Given the description of an element on the screen output the (x, y) to click on. 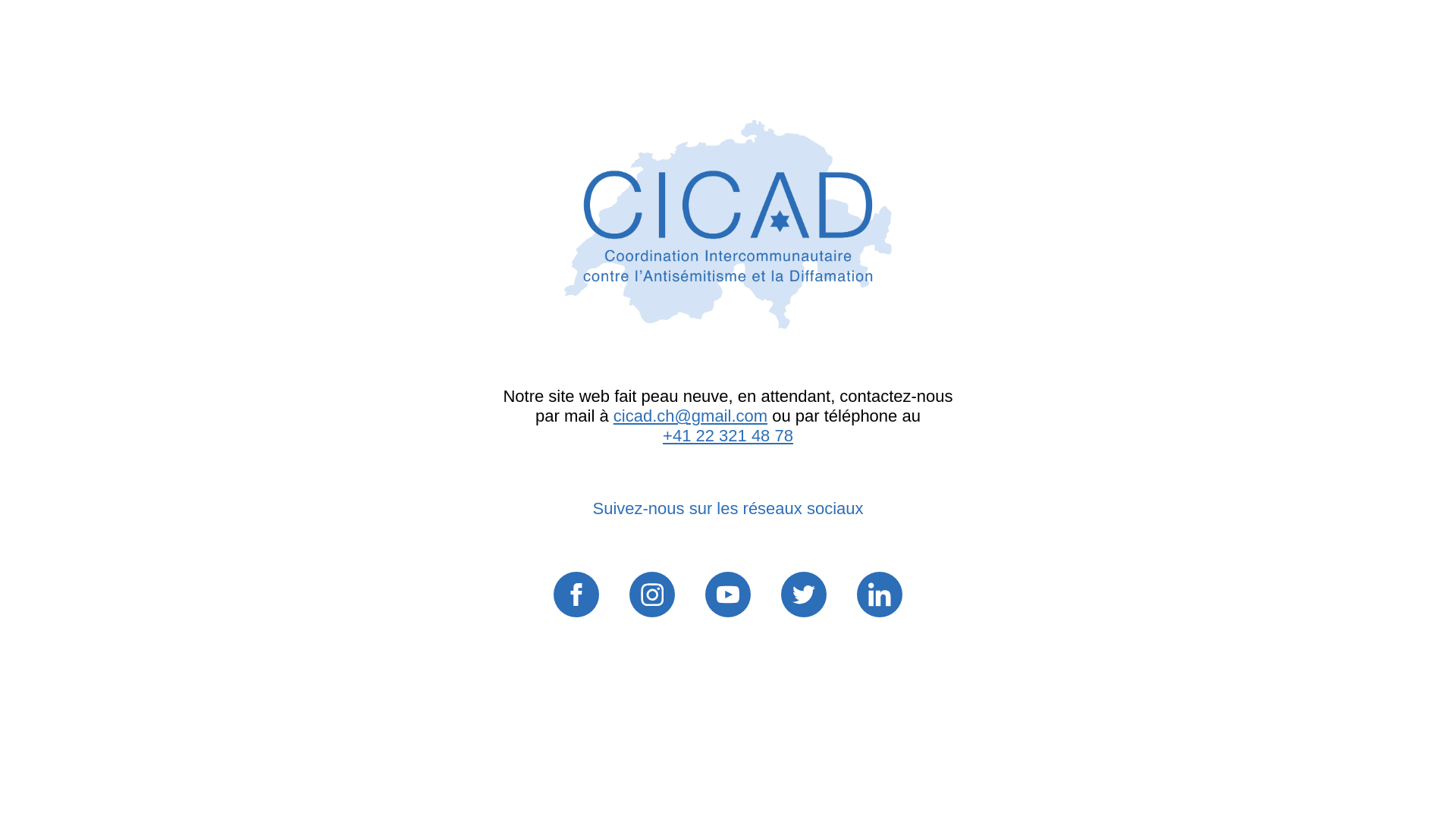
cicad.ch@gmail.com Element type: text (690, 415)
+41 22 321 48 78 Element type: text (727, 435)
